Given the description of an element on the screen output the (x, y) to click on. 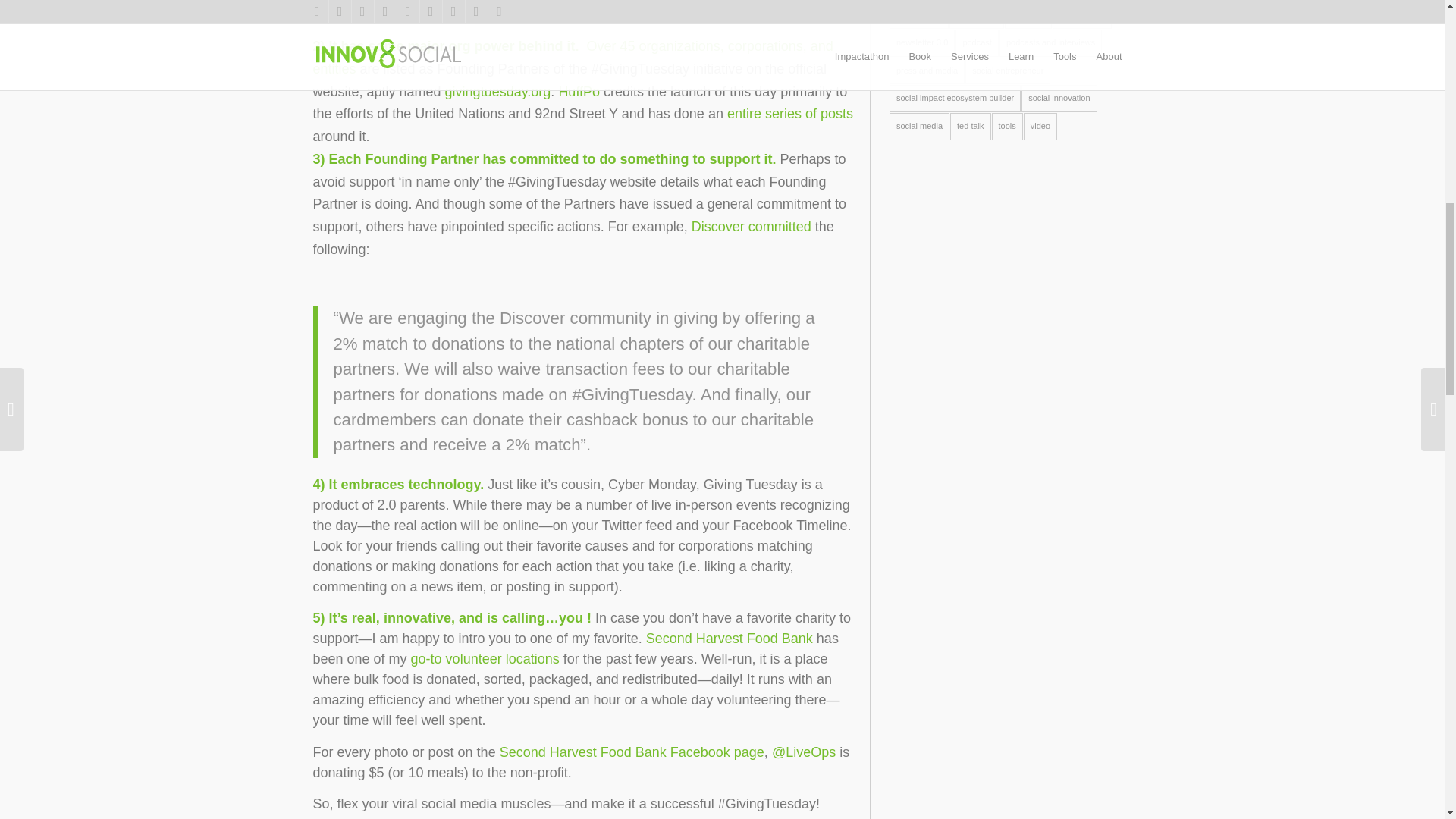
go-to volunteer locations (484, 658)
Second Harvest Food Bank (729, 638)
 Over 45 organizations, corporations, and entities (572, 57)
Discover committed (750, 226)
HuffPo (578, 91)
Second Harvest Food Bank Facebook page (631, 752)
givingtuesday.org (496, 91)
entire series of posts (789, 113)
